Given the description of an element on the screen output the (x, y) to click on. 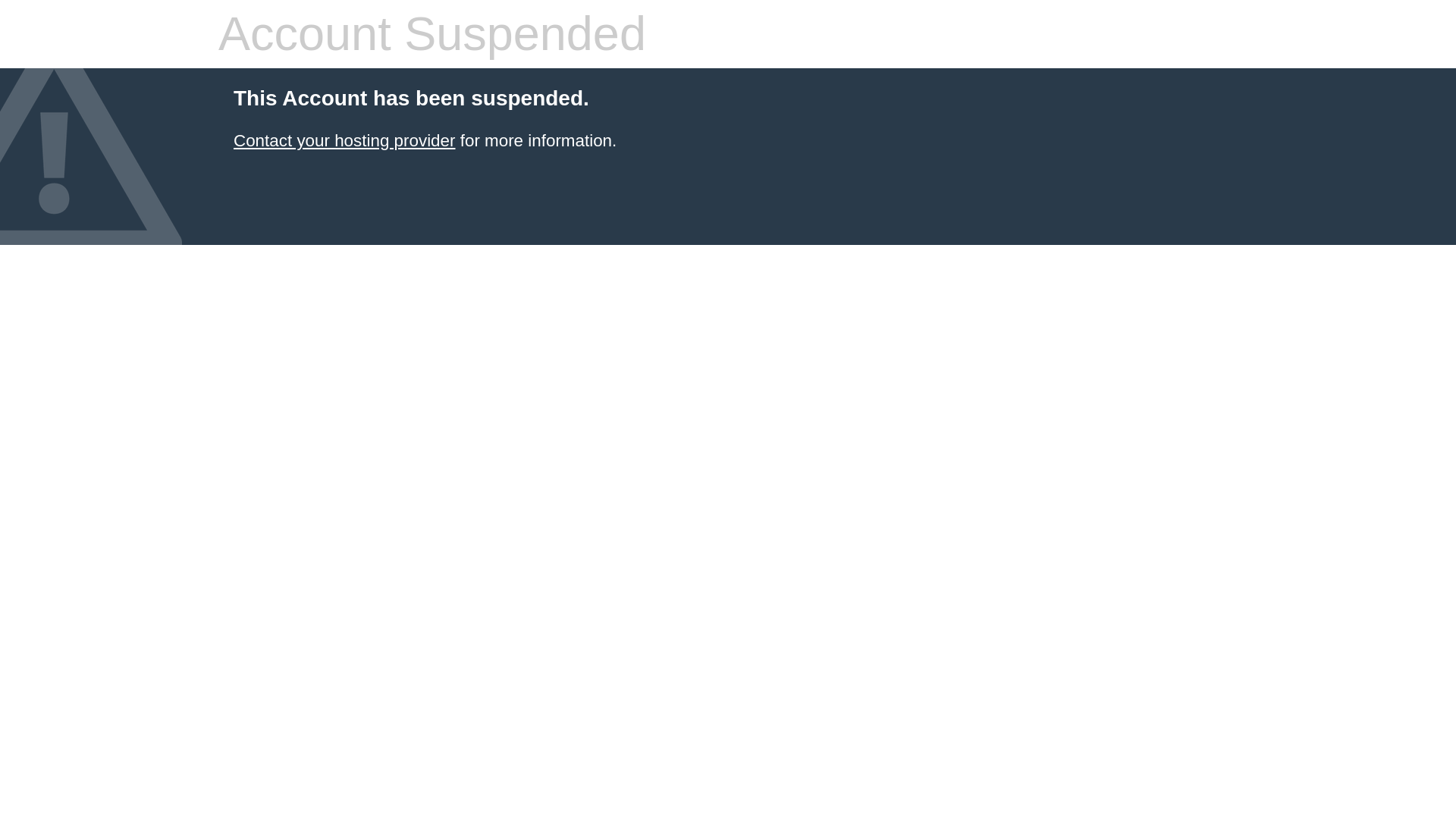
Contact your hosting provider (343, 140)
